Given the description of an element on the screen output the (x, y) to click on. 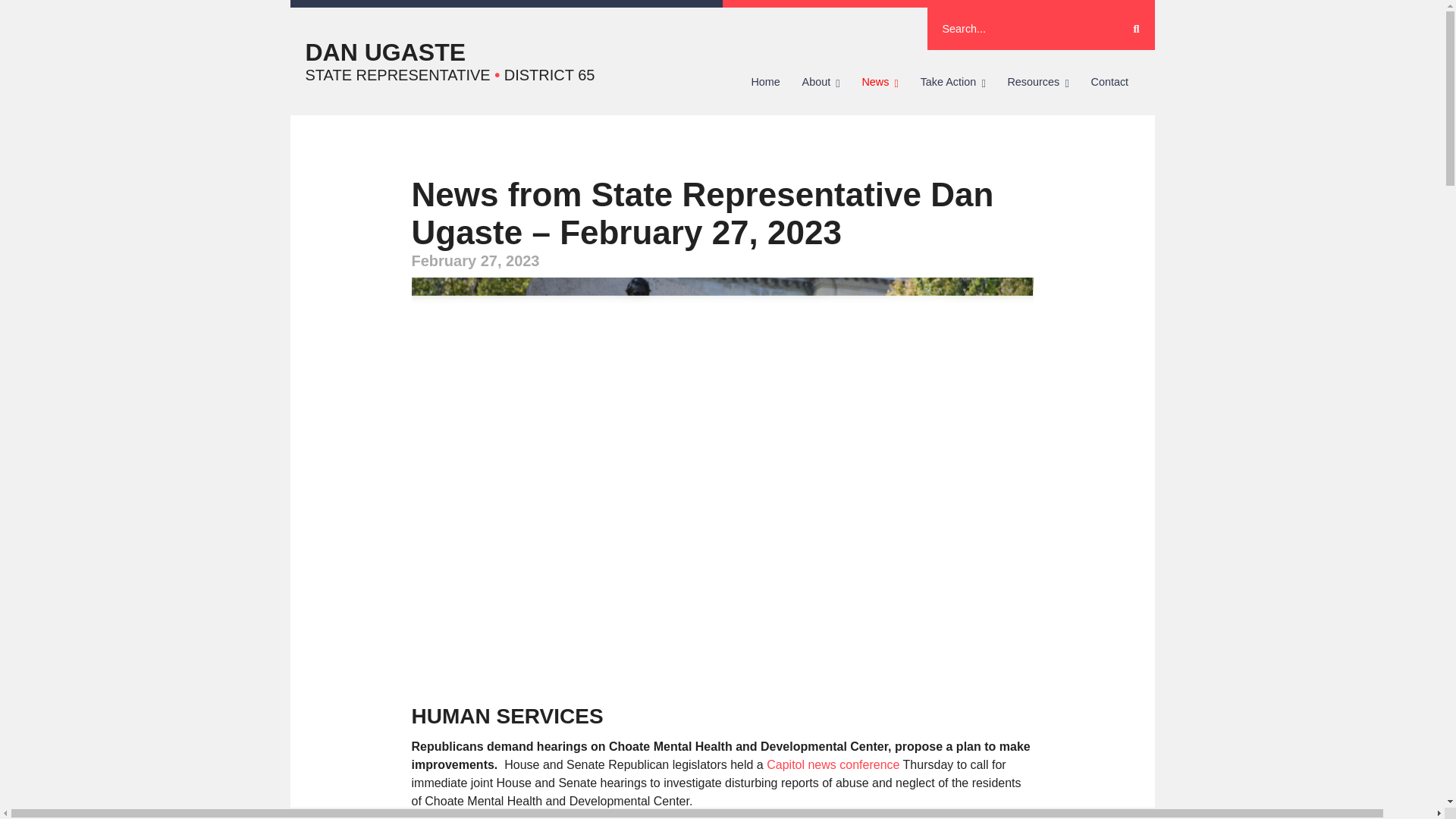
About (820, 82)
News (879, 82)
Resources (1037, 82)
Take Action (951, 82)
Home (764, 82)
Contact (1109, 82)
Capitol news conference (833, 764)
